Given the description of an element on the screen output the (x, y) to click on. 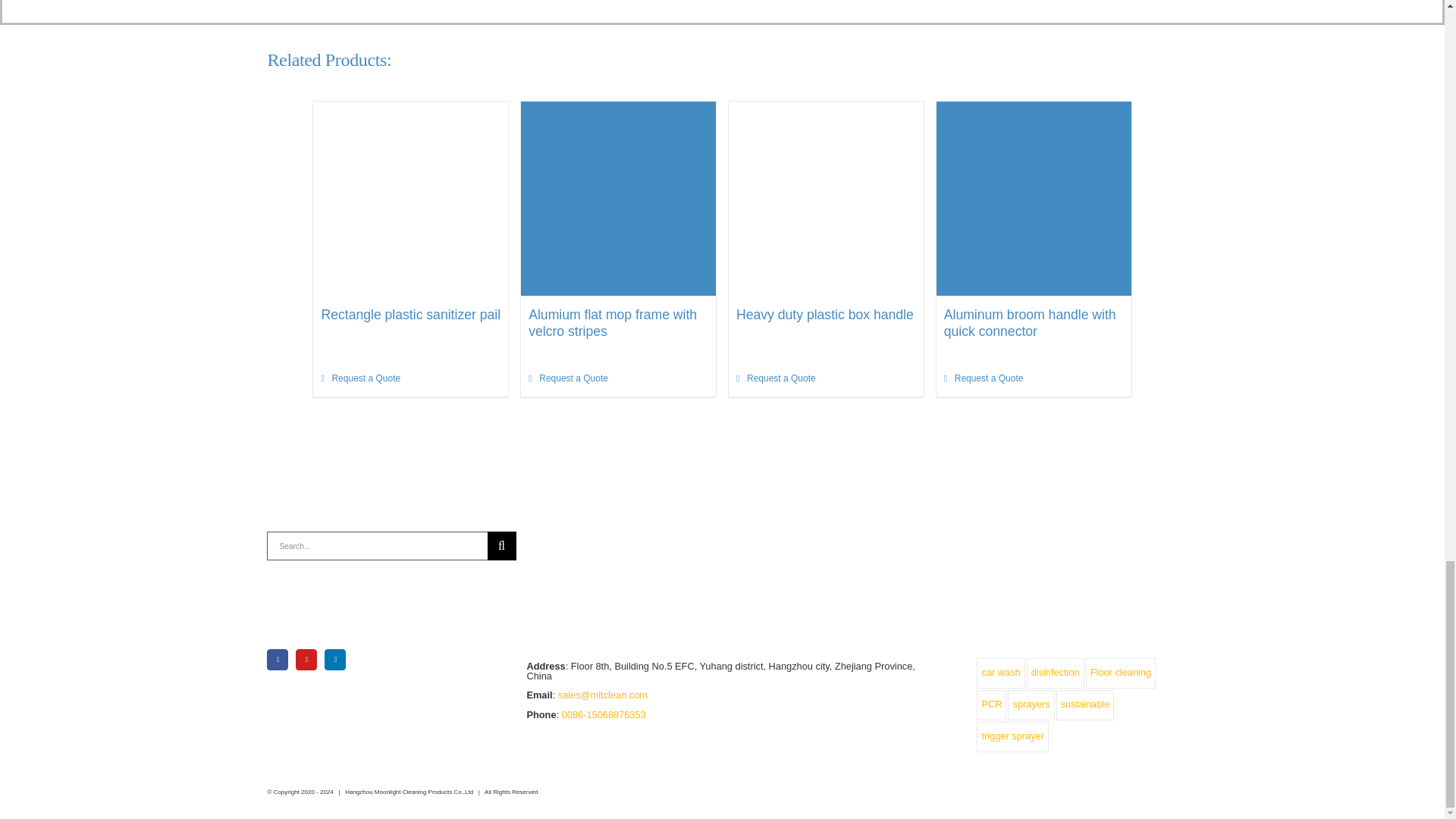
Rectangle plastic sanitizer pail (410, 314)
Request a Quote (568, 377)
Facebook (277, 659)
Request a Quote (360, 377)
YouTube (306, 659)
Alumium flat mop frame with velcro stripes (612, 322)
LinkedIn (335, 659)
